Given the description of an element on the screen output the (x, y) to click on. 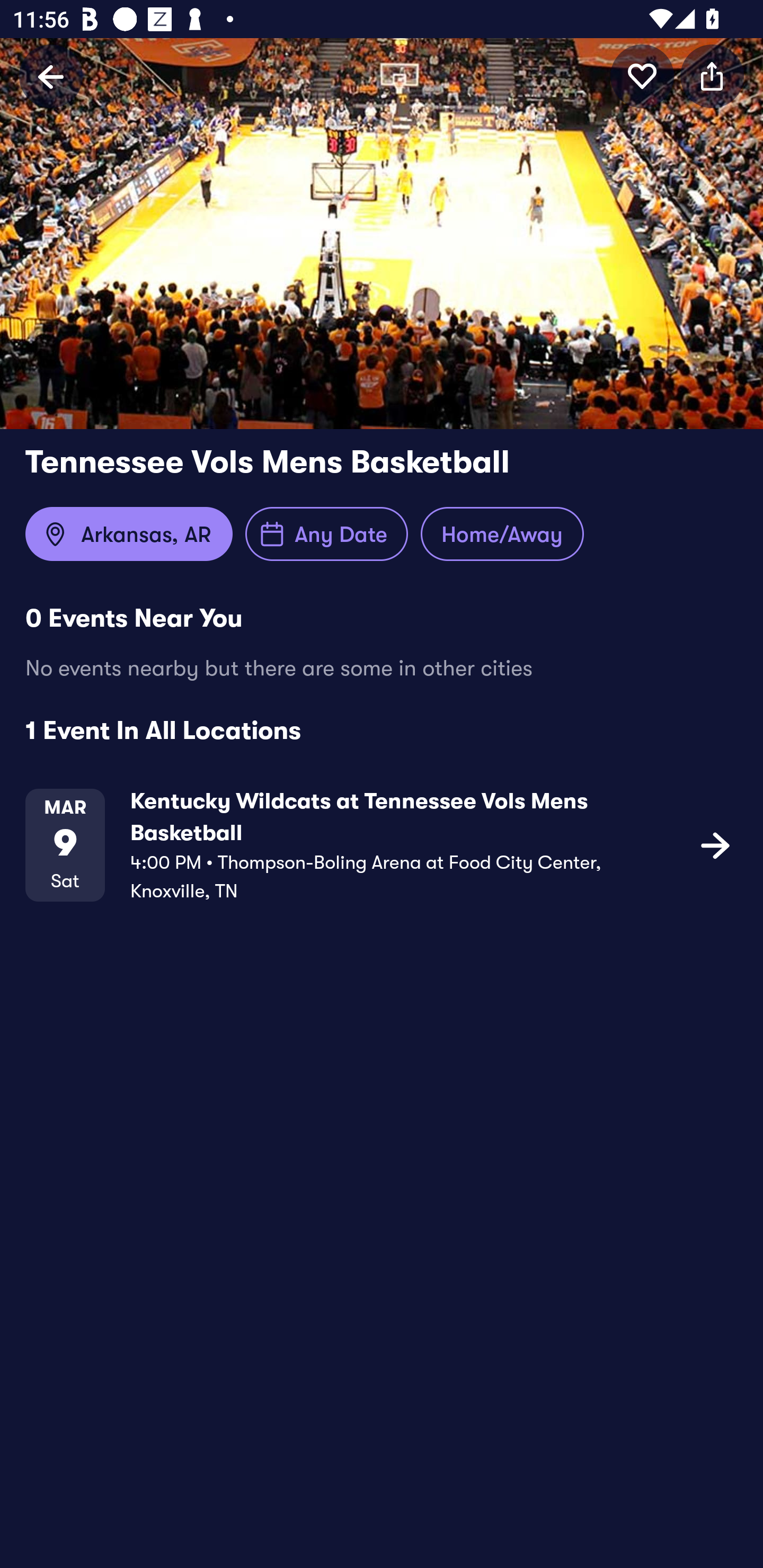
Back (50, 75)
icon button (641, 75)
icon button (711, 75)
Arkansas, AR (128, 533)
Any Date (326, 533)
Home/Away (501, 533)
icon button (714, 845)
